Given the description of an element on the screen output the (x, y) to click on. 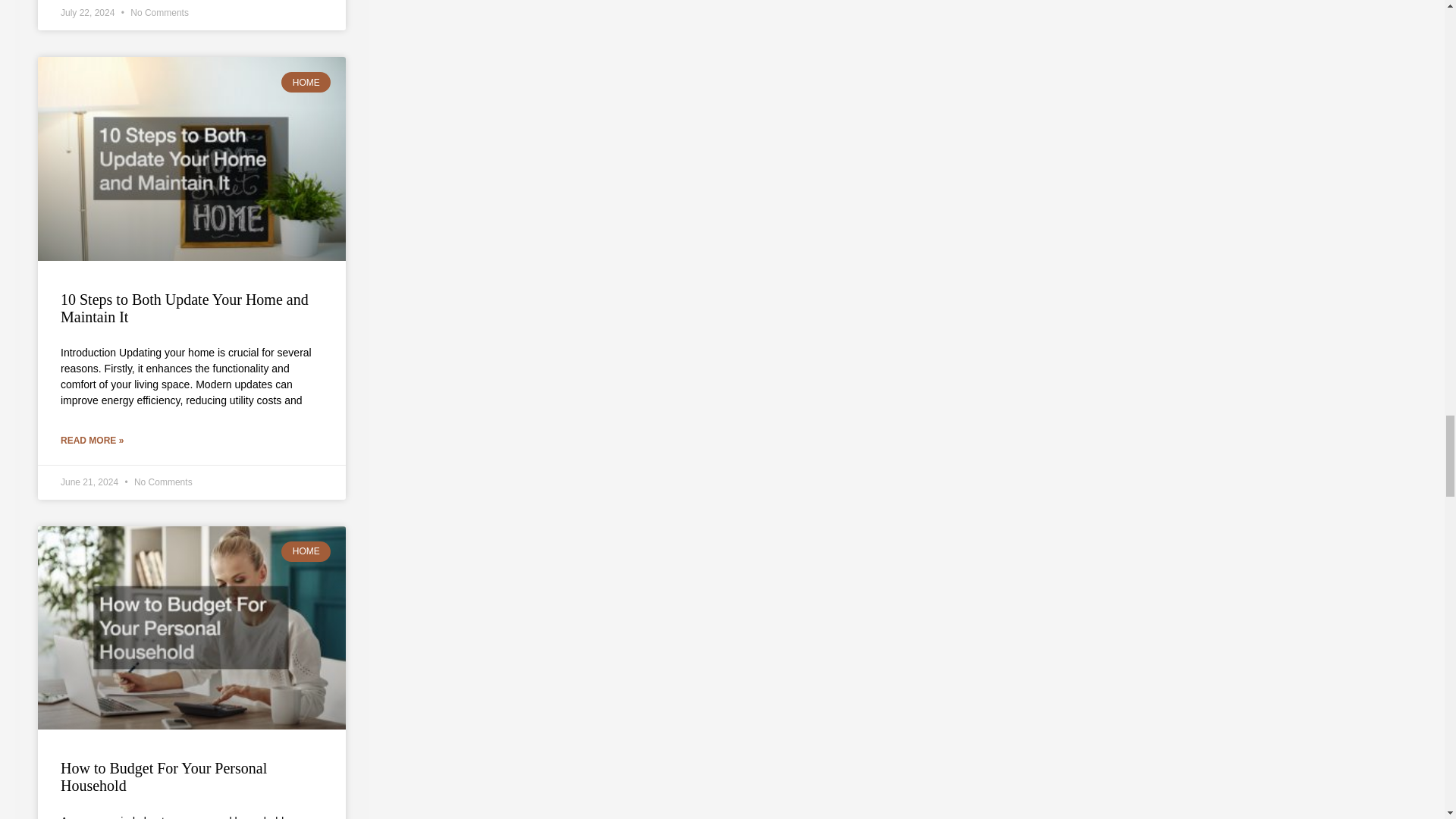
How to Budget For Your Personal Household (163, 776)
10 Steps to Both Update Your Home and Maintain It (184, 308)
